Given the description of an element on the screen output the (x, y) to click on. 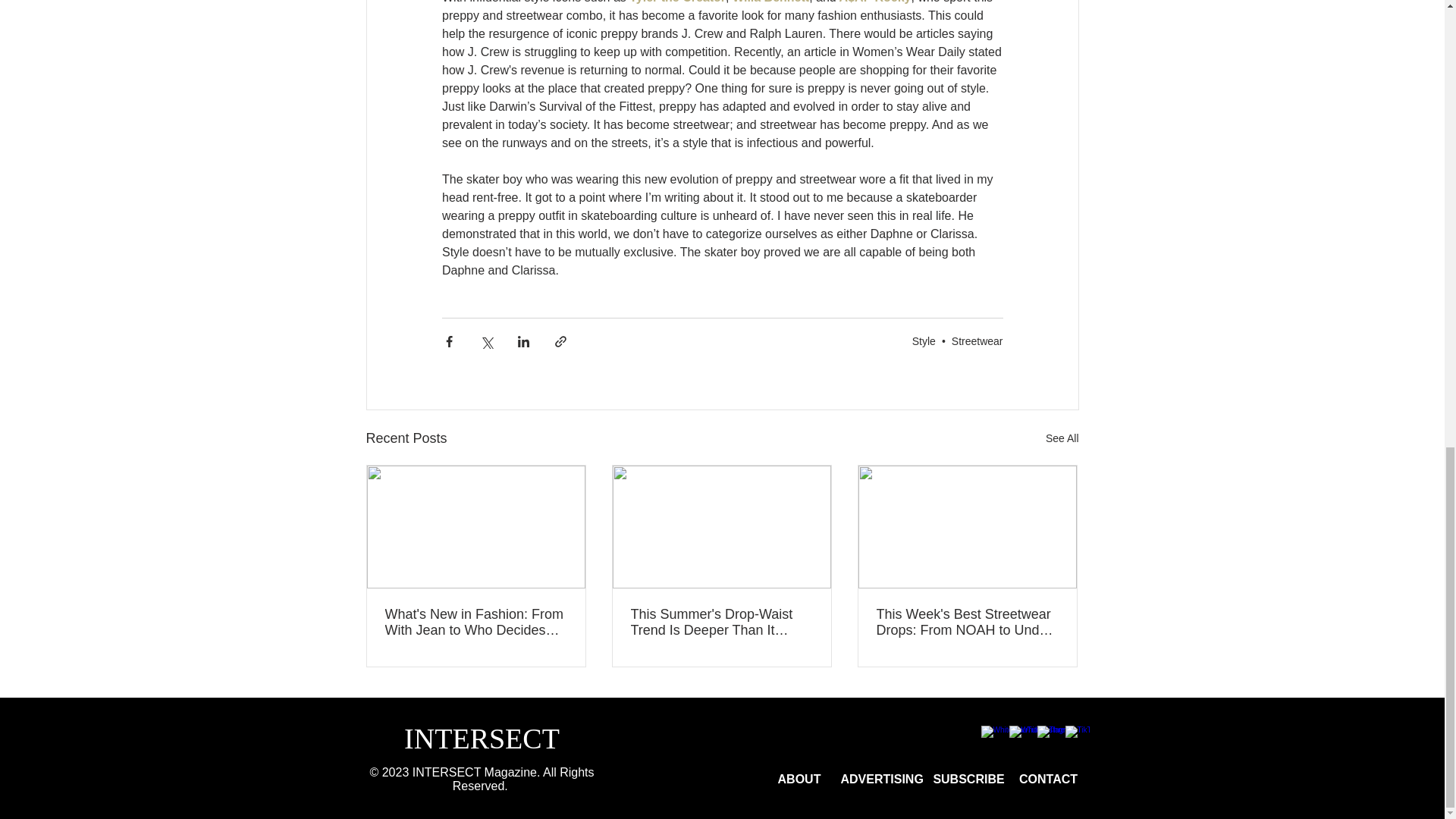
This Summer's Drop-Waist Trend Is Deeper Than It Seems (721, 622)
Streetwear (977, 340)
Tyler the Creator (676, 2)
Willa Bennett (770, 2)
This Week's Best Streetwear Drops: From NOAH to Under Armour (967, 622)
ABOUT (799, 779)
See All (1061, 438)
ADVERTISING (881, 779)
What's New in Fashion: From With Jean to Who Decides War (476, 622)
Style (924, 340)
